Given the description of an element on the screen output the (x, y) to click on. 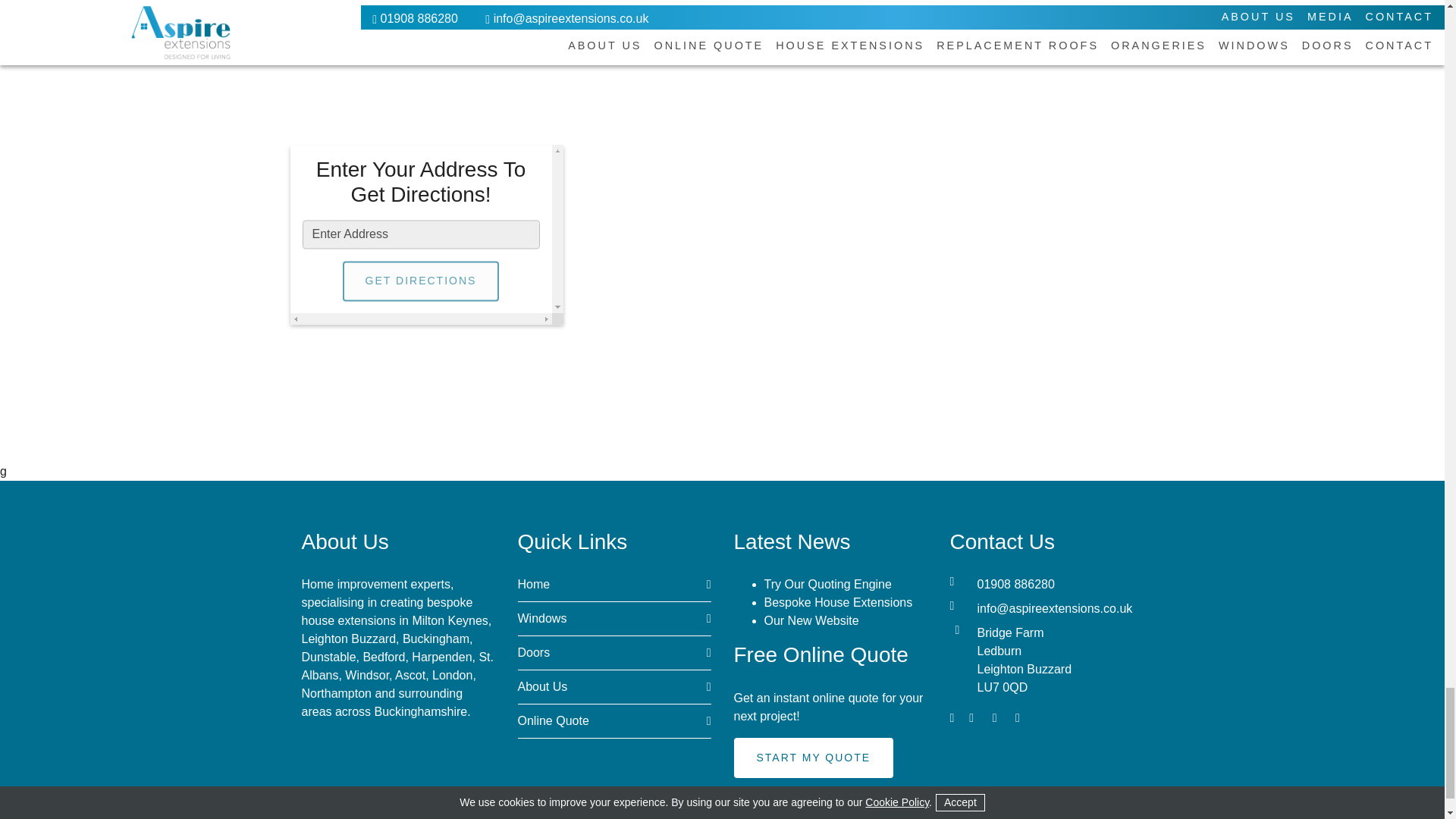
Get Directions (420, 281)
